Given the description of an element on the screen output the (x, y) to click on. 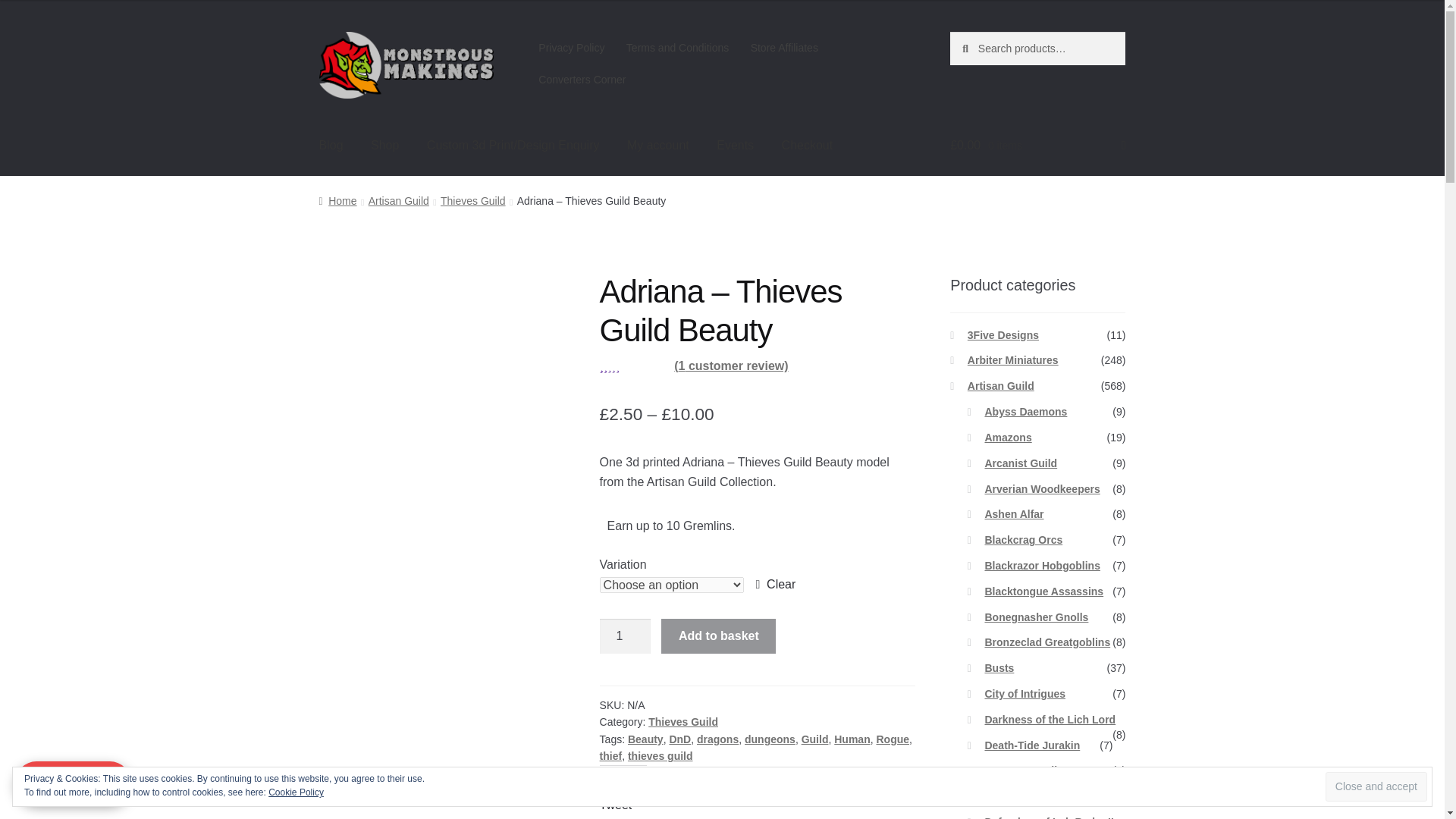
Add to basket (718, 636)
My account (657, 145)
Home (337, 200)
Converters Corner (581, 79)
Terms and Conditions (677, 47)
Clear (775, 584)
1 (624, 636)
Artisan Guild (398, 200)
dungeons (769, 739)
Thieves Guild (682, 721)
Close and accept (1375, 786)
View your shopping basket (1037, 145)
dragons (717, 739)
